Given the description of an element on the screen output the (x, y) to click on. 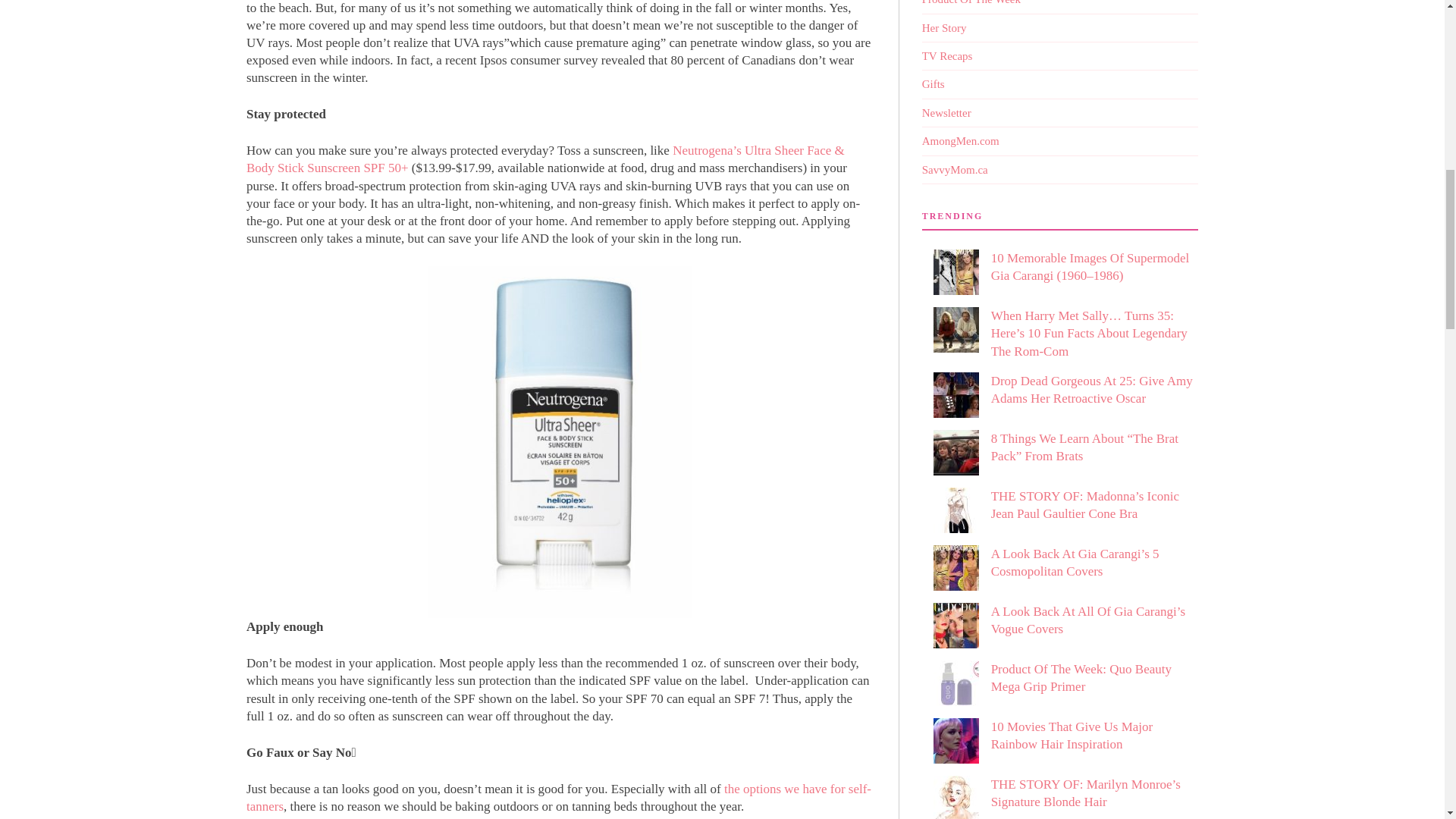
the options we have for self-tanners (558, 798)
